Given the description of an element on the screen output the (x, y) to click on. 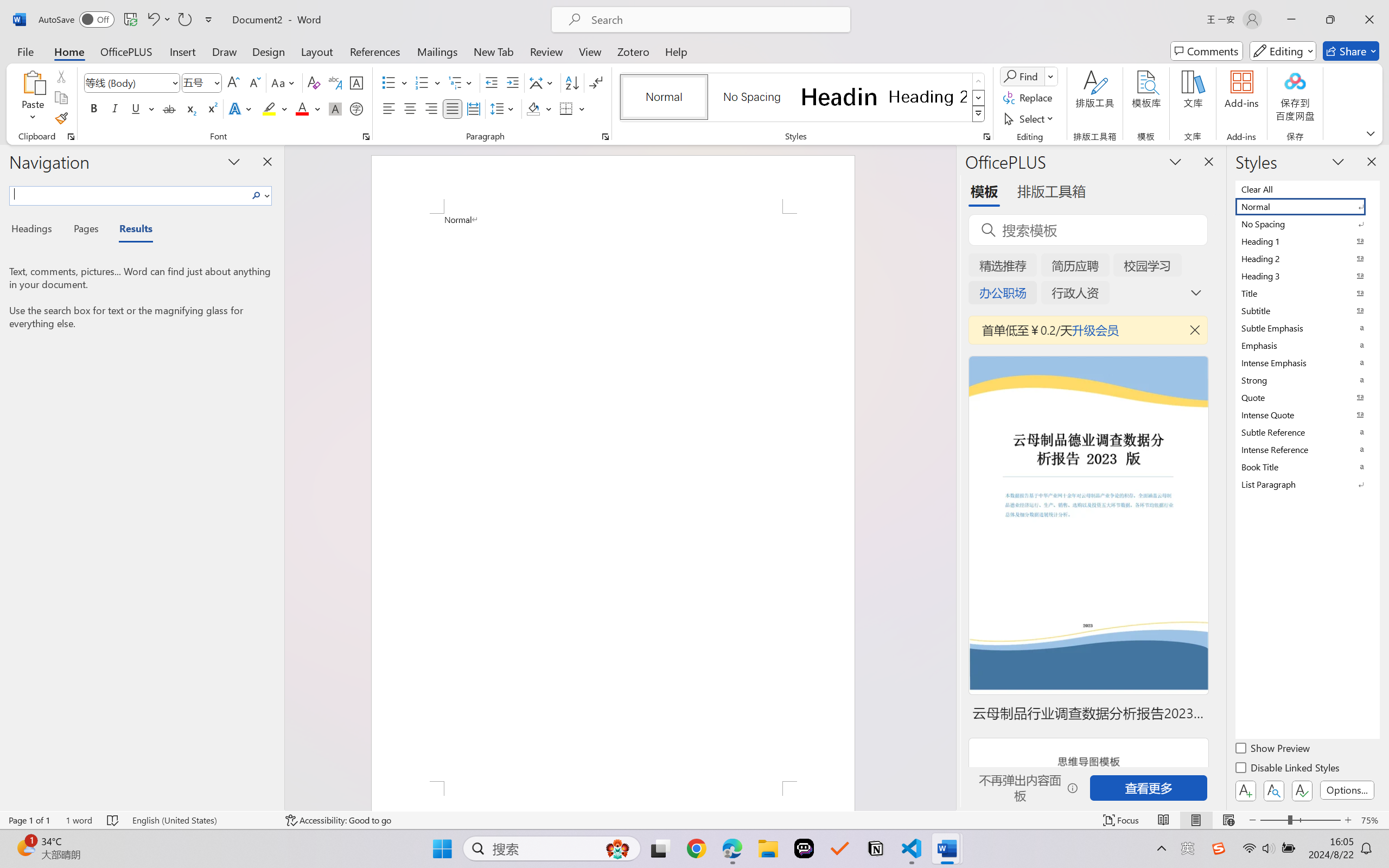
Disable Linked Styles (1287, 769)
Styles (978, 113)
Draw (224, 51)
Phonetic Guide... (334, 82)
Zoom Out (1273, 819)
Enclose Characters... (356, 108)
Row Down (978, 97)
Normal (1306, 206)
Read Mode (1163, 819)
Page Number Page 1 of 1 (29, 819)
Class: NetUIButton (1301, 790)
Headings (35, 229)
